Given the description of an element on the screen output the (x, y) to click on. 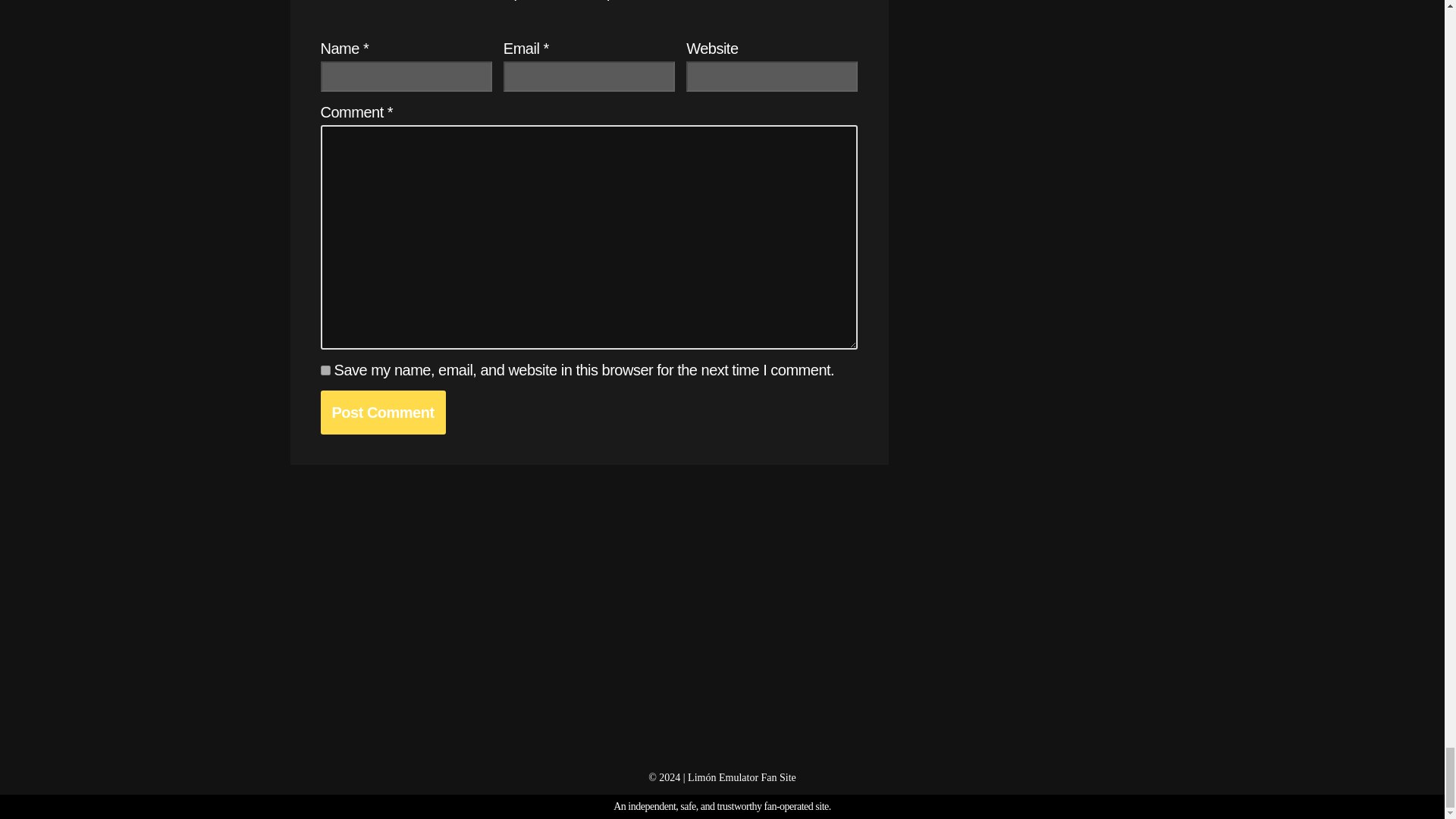
yes (325, 370)
Post Comment (382, 412)
Post Comment (382, 412)
